Given the description of an element on the screen output the (x, y) to click on. 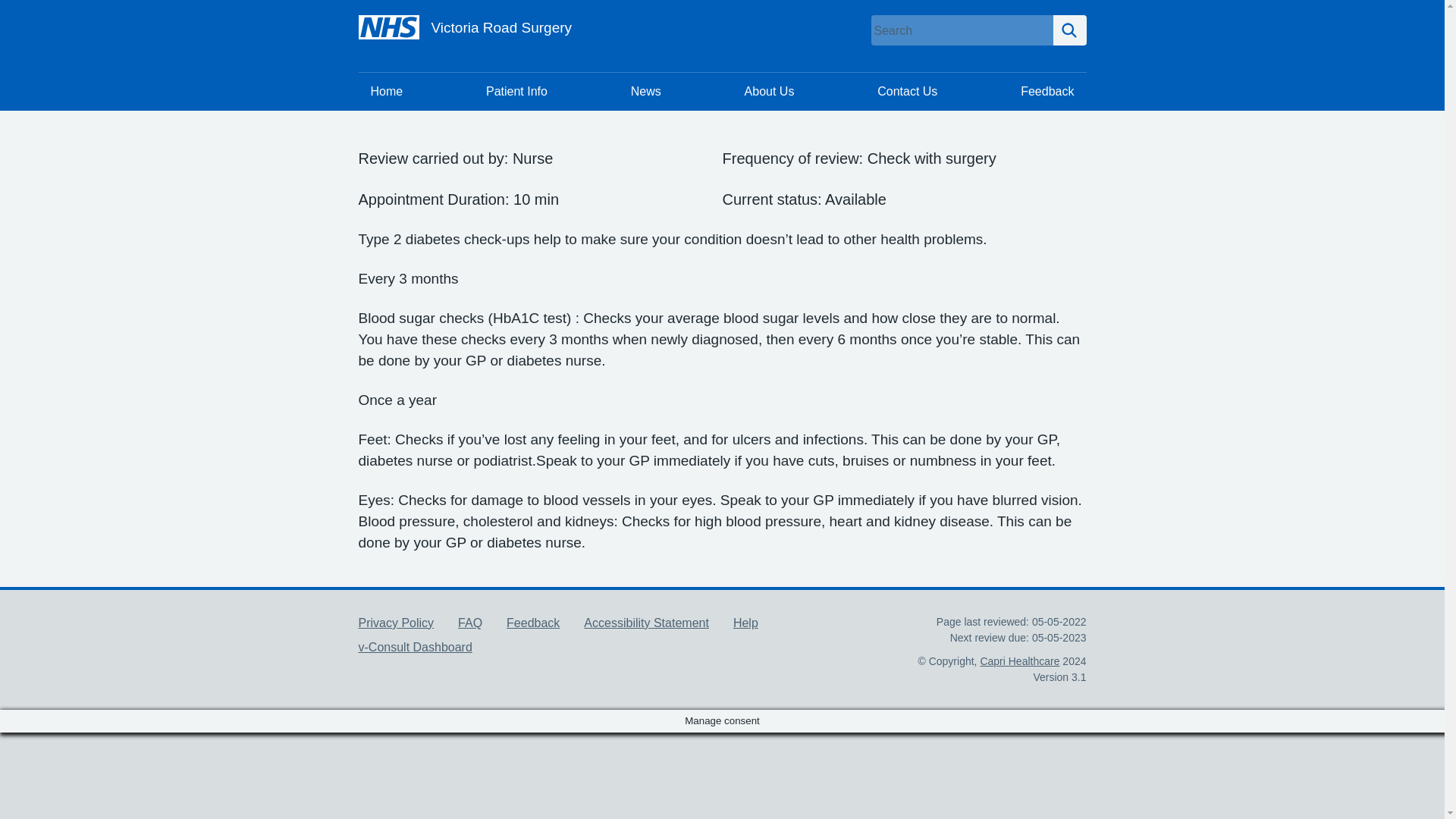
v-Consult Dashboard (414, 646)
Feedback (1047, 91)
Home (386, 91)
NHS Logo (388, 27)
About Us (769, 91)
Privacy Policy (395, 622)
Patient Info (516, 91)
Capri Healthcare (1019, 661)
News (645, 91)
Search (1069, 30)
Accessibility Statement (646, 622)
Feedback (532, 622)
Contact Us (906, 91)
Help (745, 622)
FAQ (469, 622)
